Given the description of an element on the screen output the (x, y) to click on. 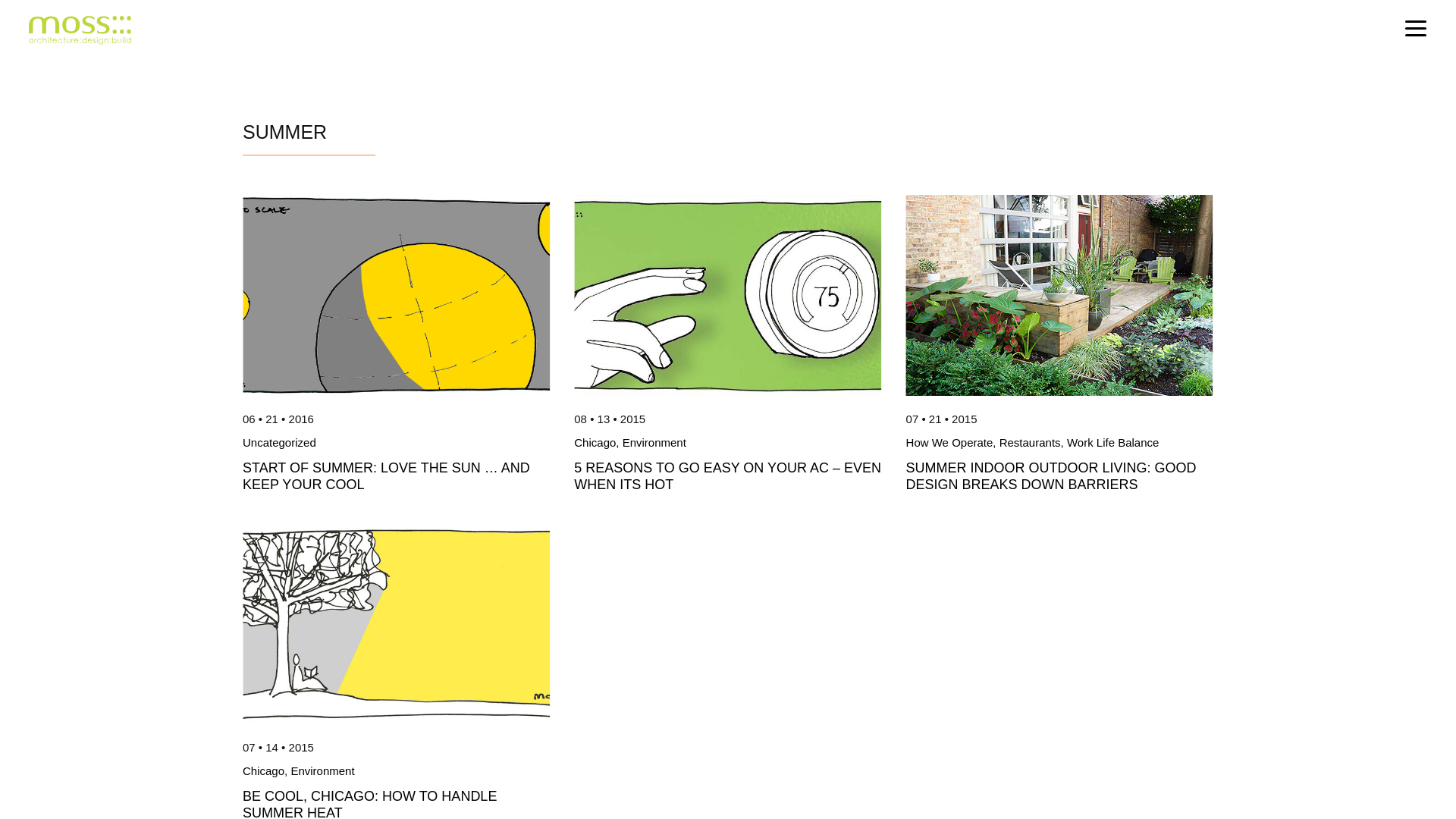
How We Operate (948, 440)
Chicago (263, 770)
Restaurants (1029, 440)
Work Life Balance (1112, 440)
Environment (321, 770)
Chicago (594, 440)
BE COOL, CHICAGO: HOW TO HANDLE SUMMER HEAT (369, 803)
Environment (654, 440)
Uncategorized (279, 440)
